Given the description of an element on the screen output the (x, y) to click on. 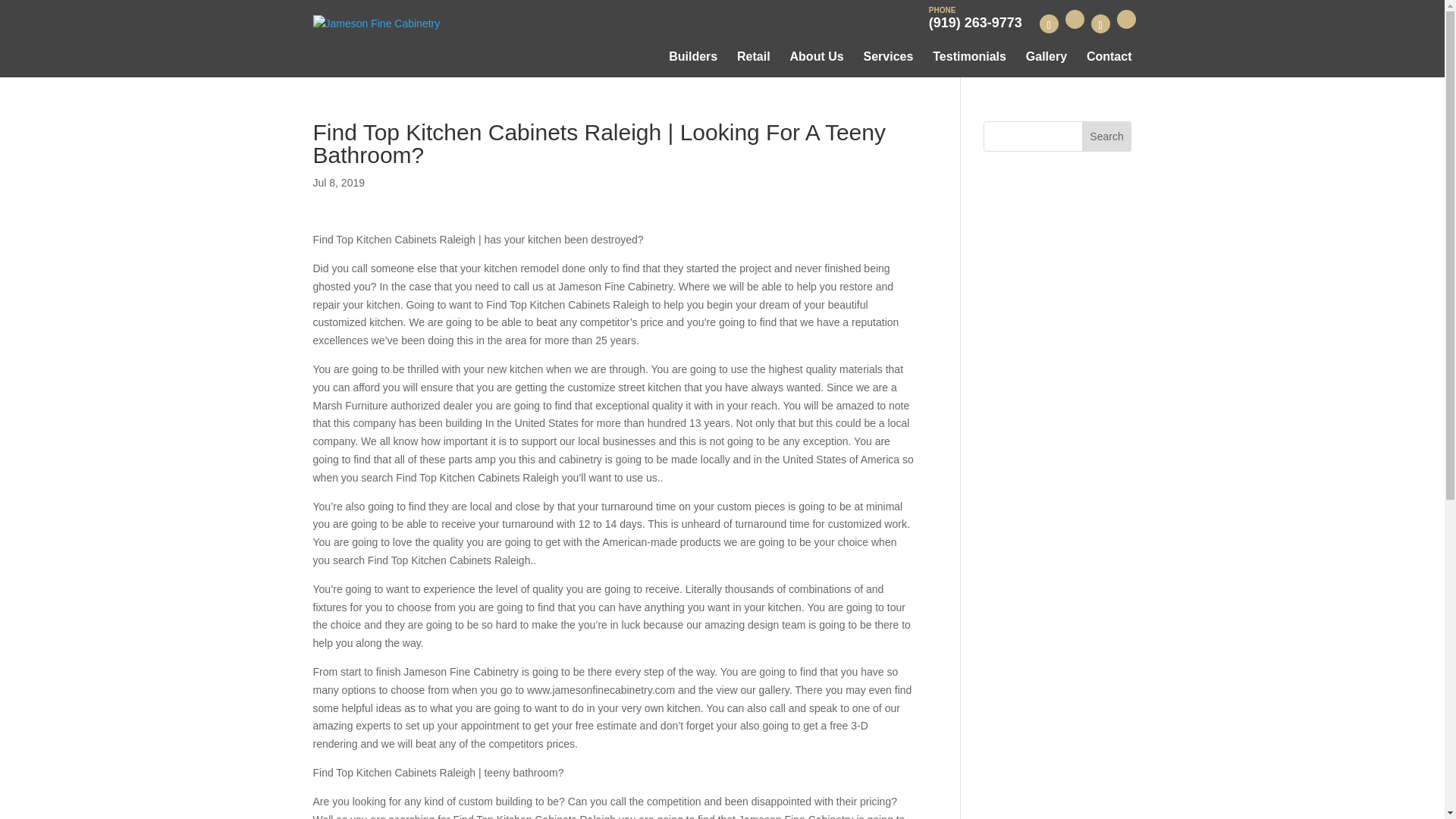
Search (1106, 136)
Builders (692, 56)
About Us (817, 56)
Retail (753, 56)
Contact (1109, 56)
Gallery (1046, 56)
Search (1106, 136)
Testimonials (969, 56)
Services (888, 56)
